Given the description of an element on the screen output the (x, y) to click on. 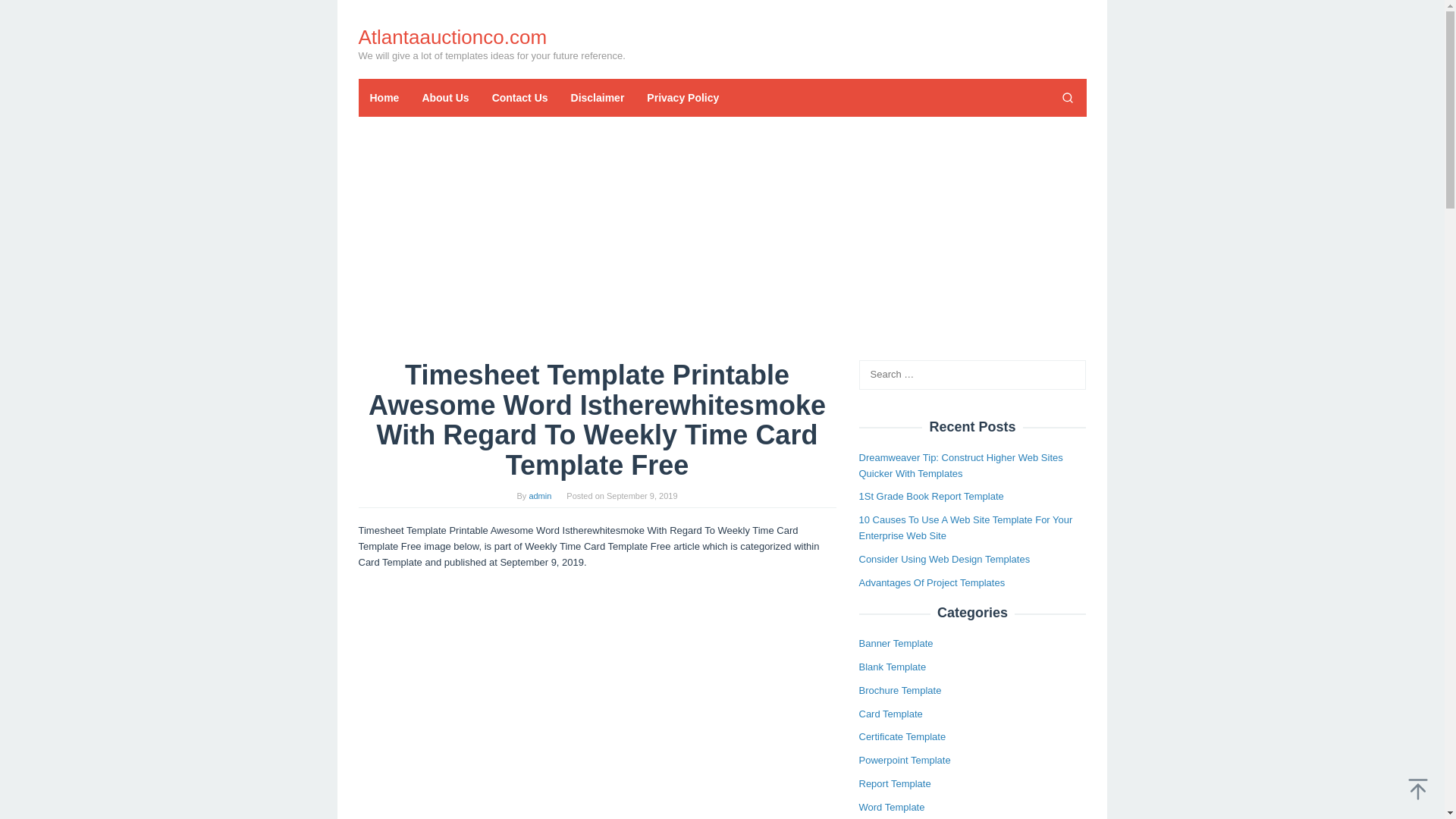
Consider Using Web Design Templates (944, 559)
Home (384, 97)
Atlantaauctionco.com (452, 36)
Advertisement (596, 766)
Permalink to: admin (539, 495)
Disclaimer (597, 97)
admin (539, 495)
Advantages Of Project Templates (931, 582)
